Given the description of an element on the screen output the (x, y) to click on. 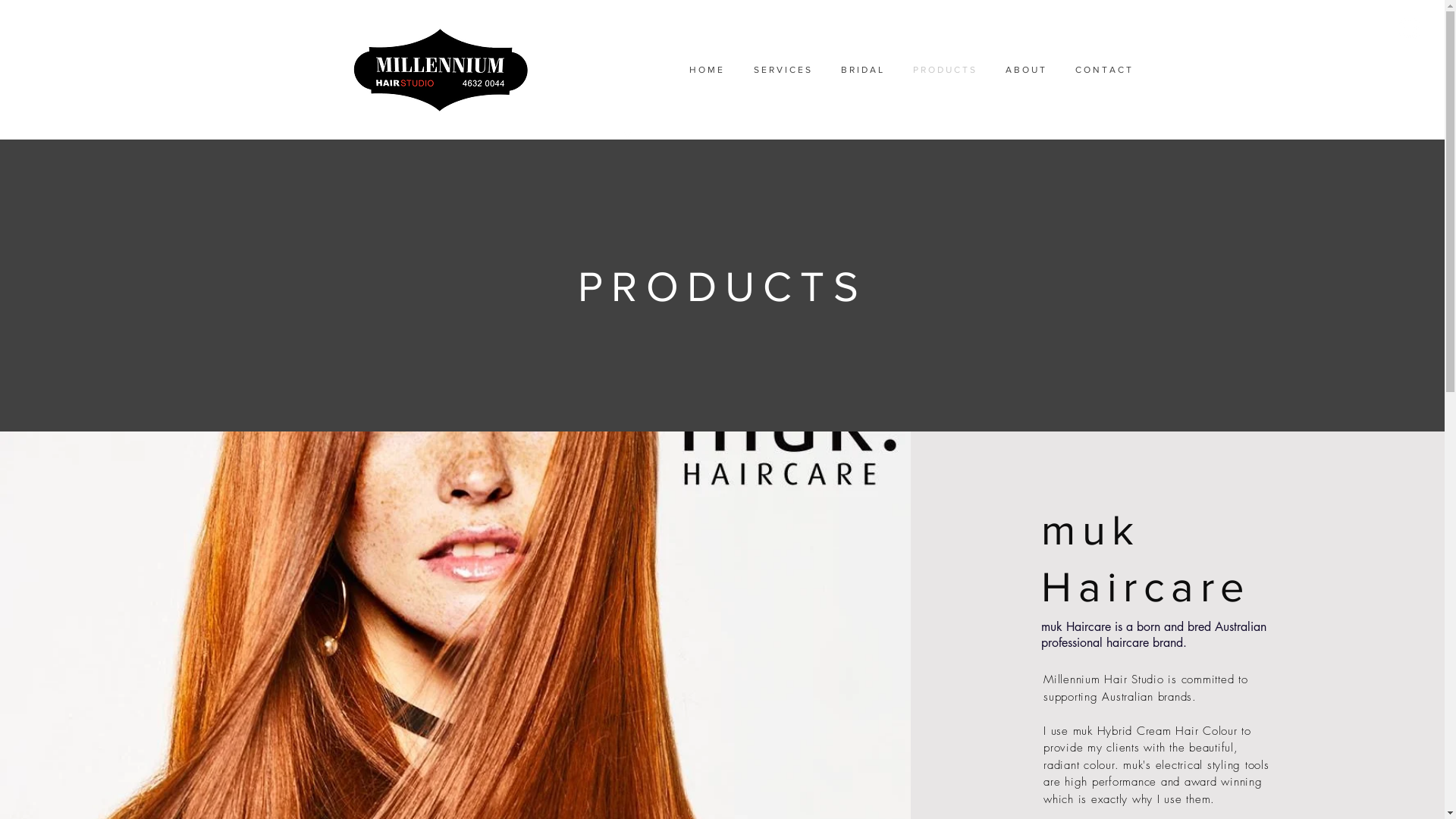
P R O D U C T S Element type: text (943, 69)
H O M E Element type: text (705, 69)
S E R V I C E S Element type: text (781, 69)
B R I D A L Element type: text (861, 69)
A B O U T Element type: text (1025, 69)
C O N T A C T Element type: text (1103, 69)
